Given the description of an element on the screen output the (x, y) to click on. 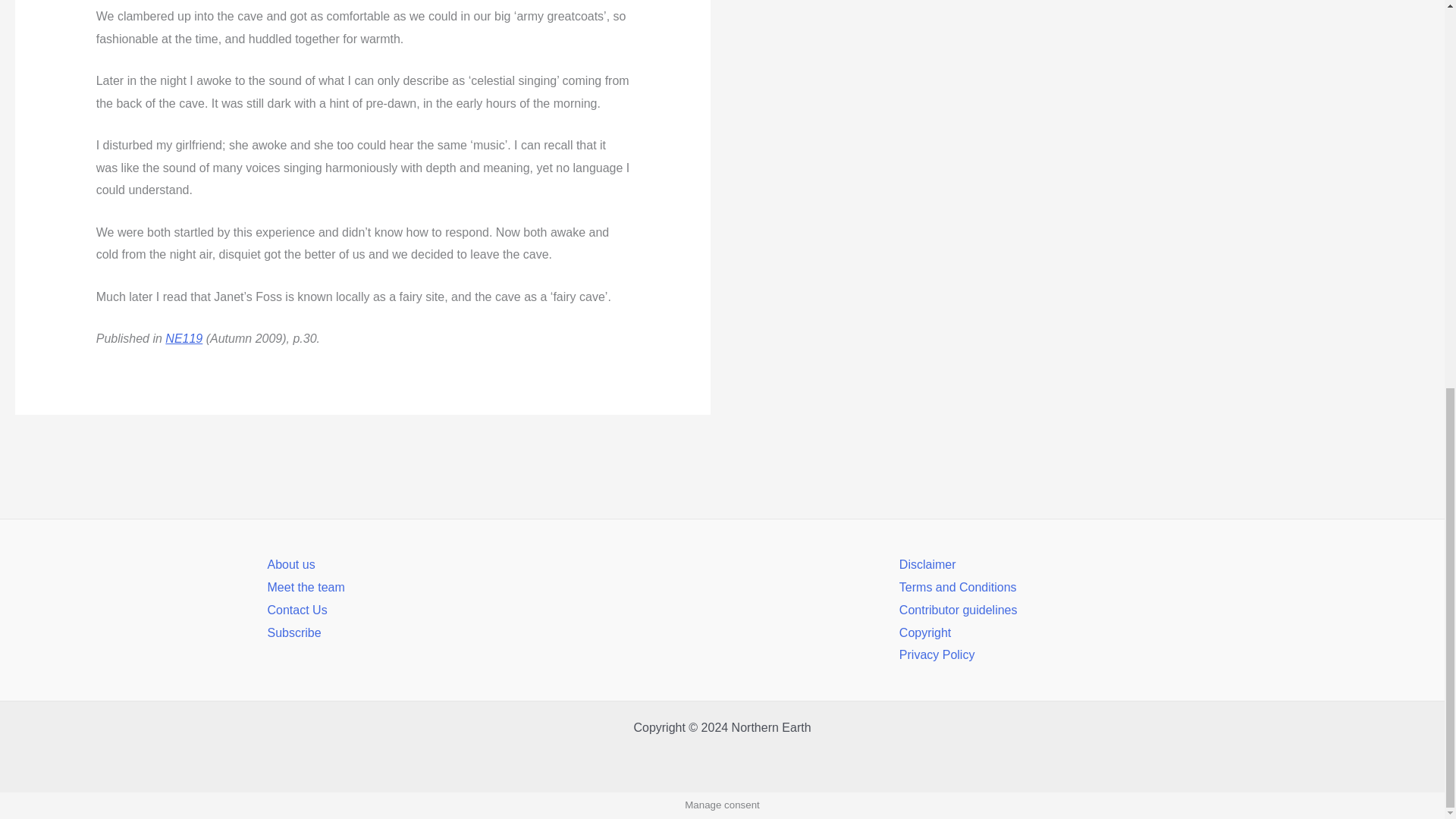
NE119 (183, 338)
